Given the description of an element on the screen output the (x, y) to click on. 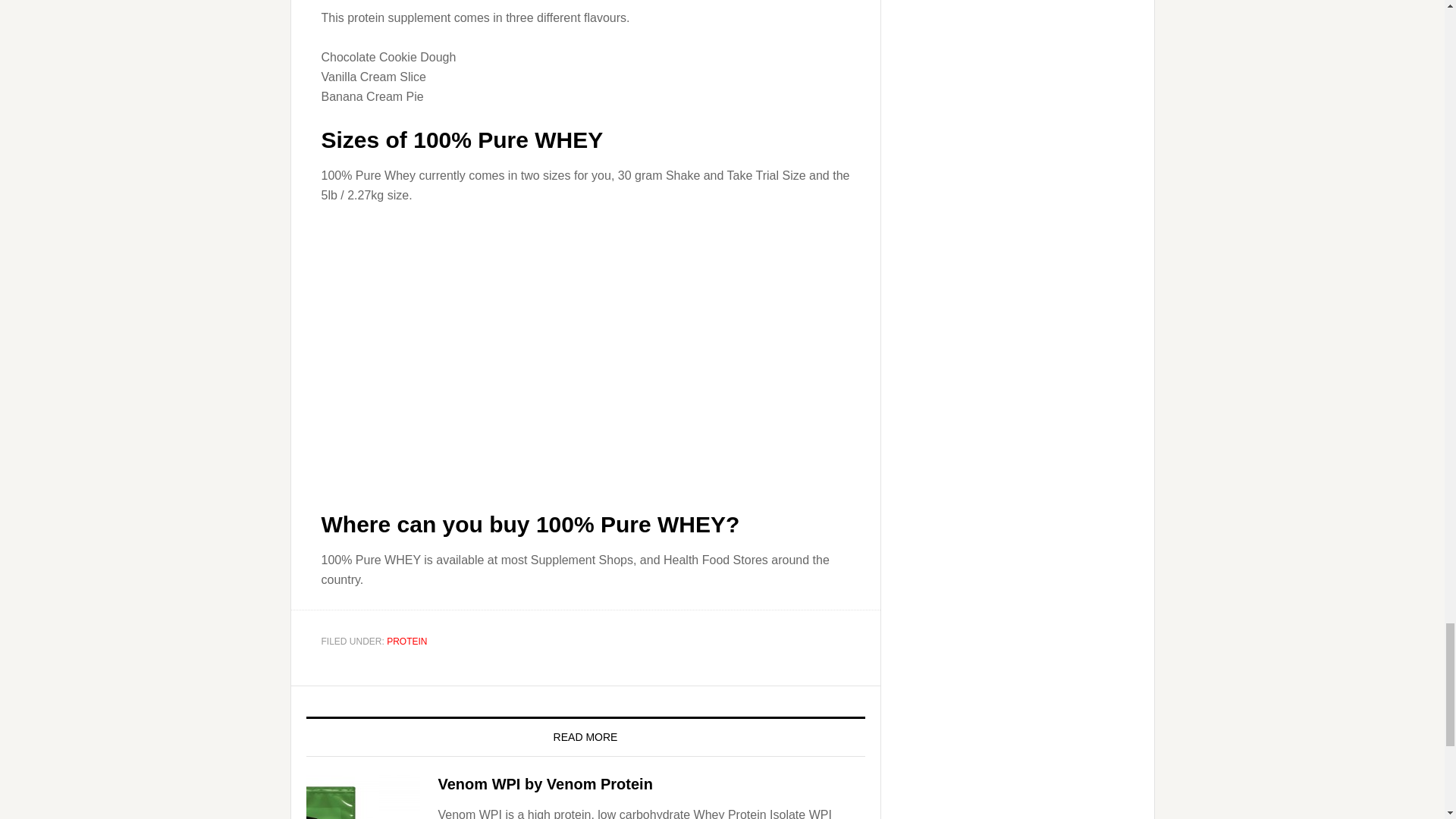
Venom WPI by Venom Protein (545, 783)
PROTEIN (406, 641)
